Given the description of an element on the screen output the (x, y) to click on. 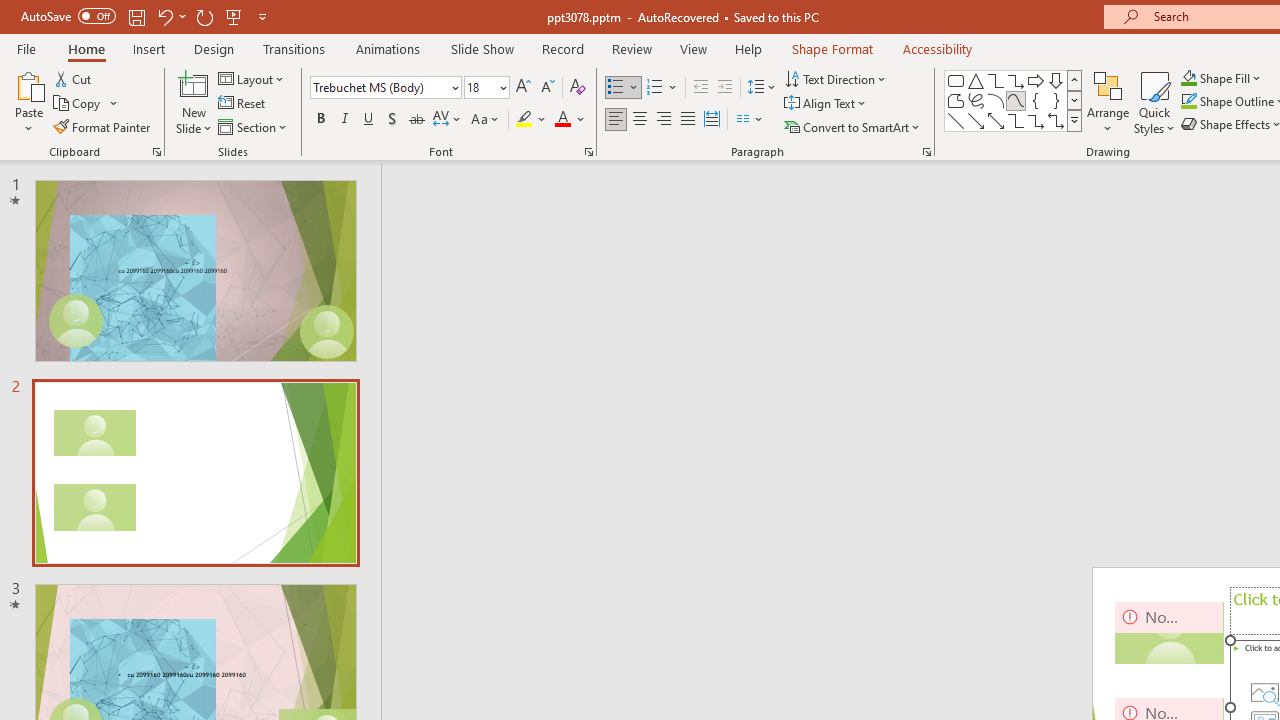
Shape Fill Dark Green, Accent 2 (1188, 78)
